Given the description of an element on the screen output the (x, y) to click on. 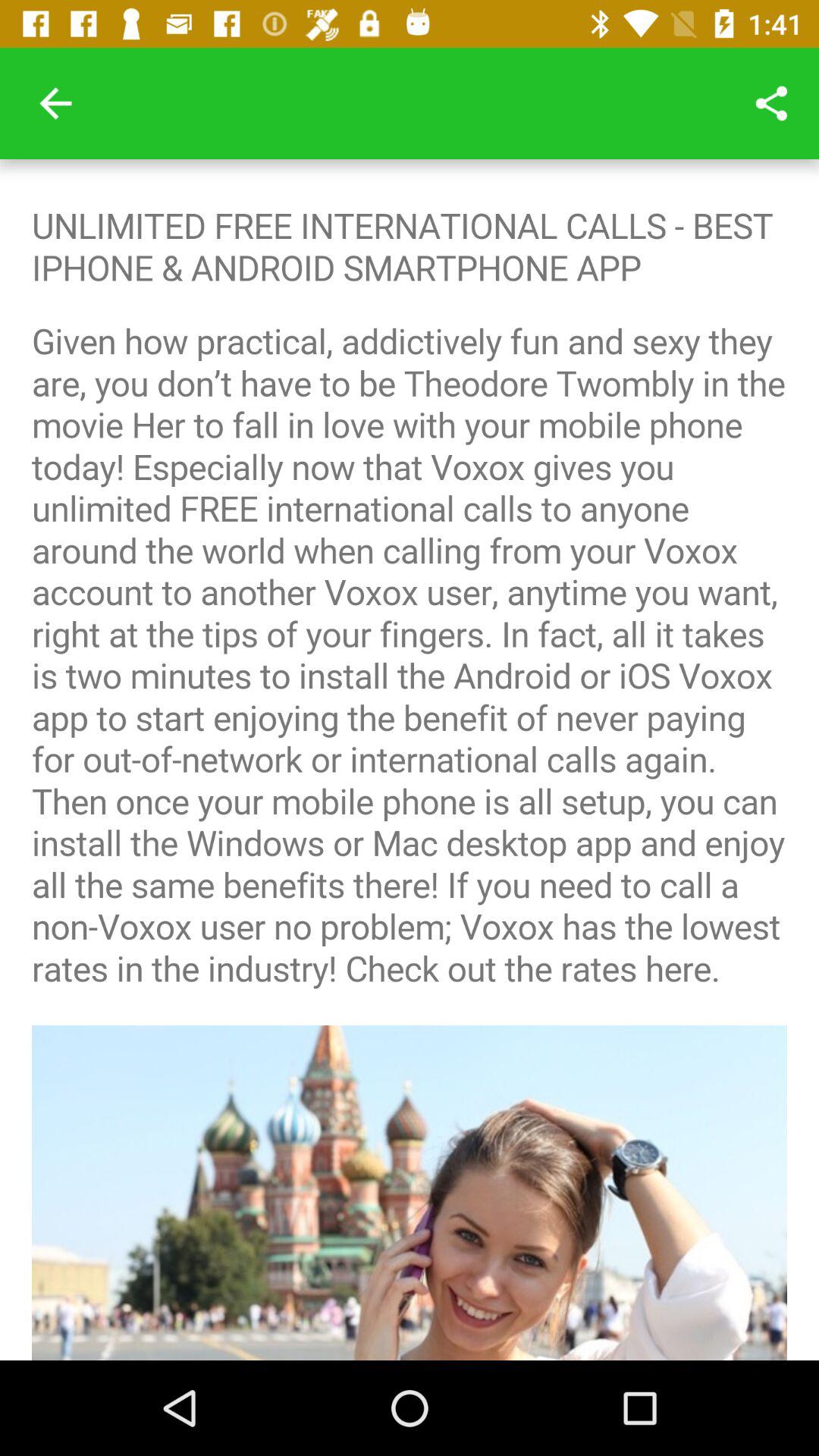
article about international calls (409, 759)
